Given the description of an element on the screen output the (x, y) to click on. 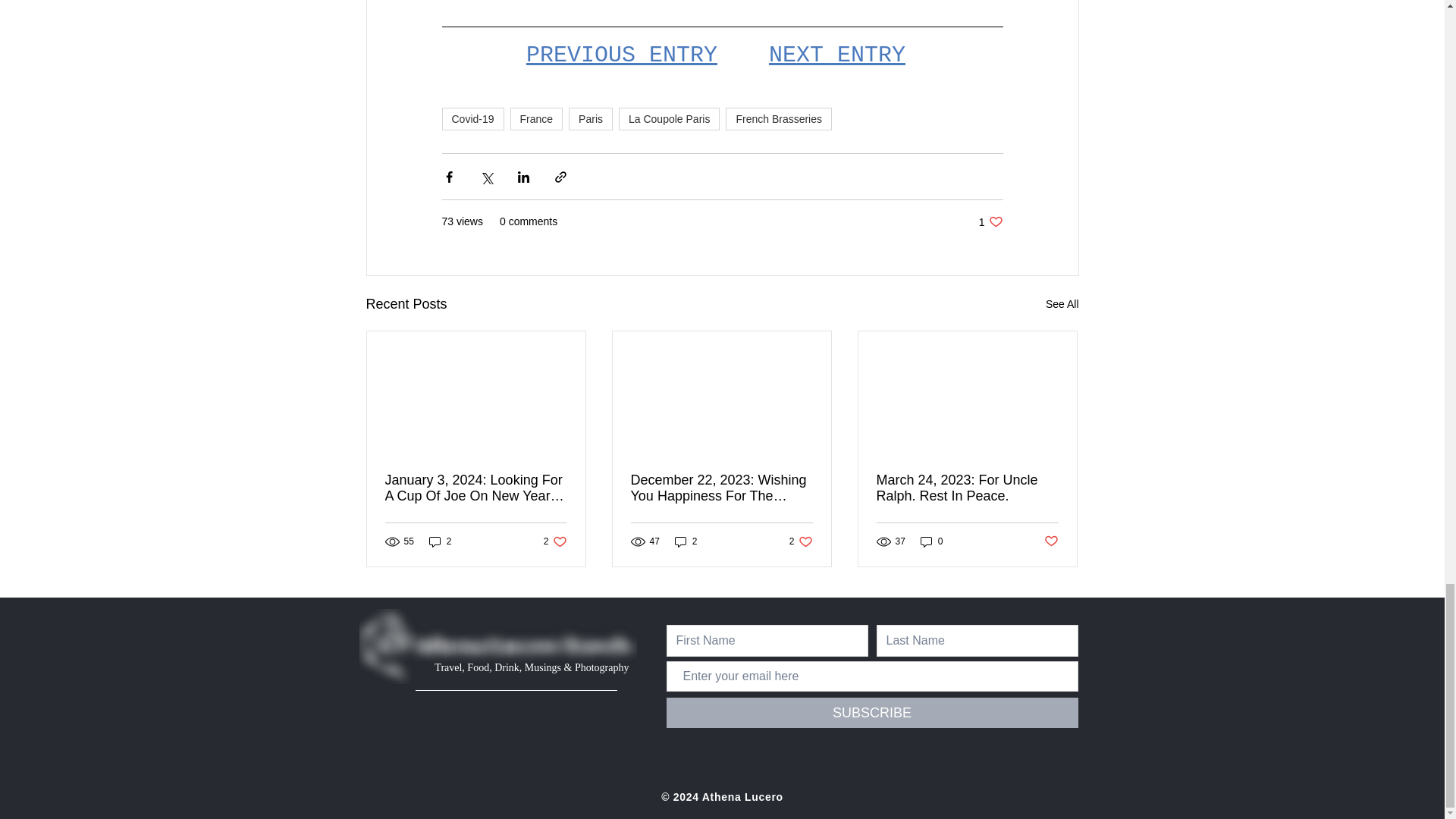
0 (990, 221)
France (800, 541)
French Brasseries (931, 541)
PREVIOUS ENTRY (537, 118)
Paris (778, 118)
Post not marked as liked (620, 54)
NEXT ENTRY (590, 118)
See All (1050, 541)
La Coupole Paris (836, 54)
March 24, 2023: For Uncle Ralph. Rest In Peace. (555, 541)
